Given the description of an element on the screen output the (x, y) to click on. 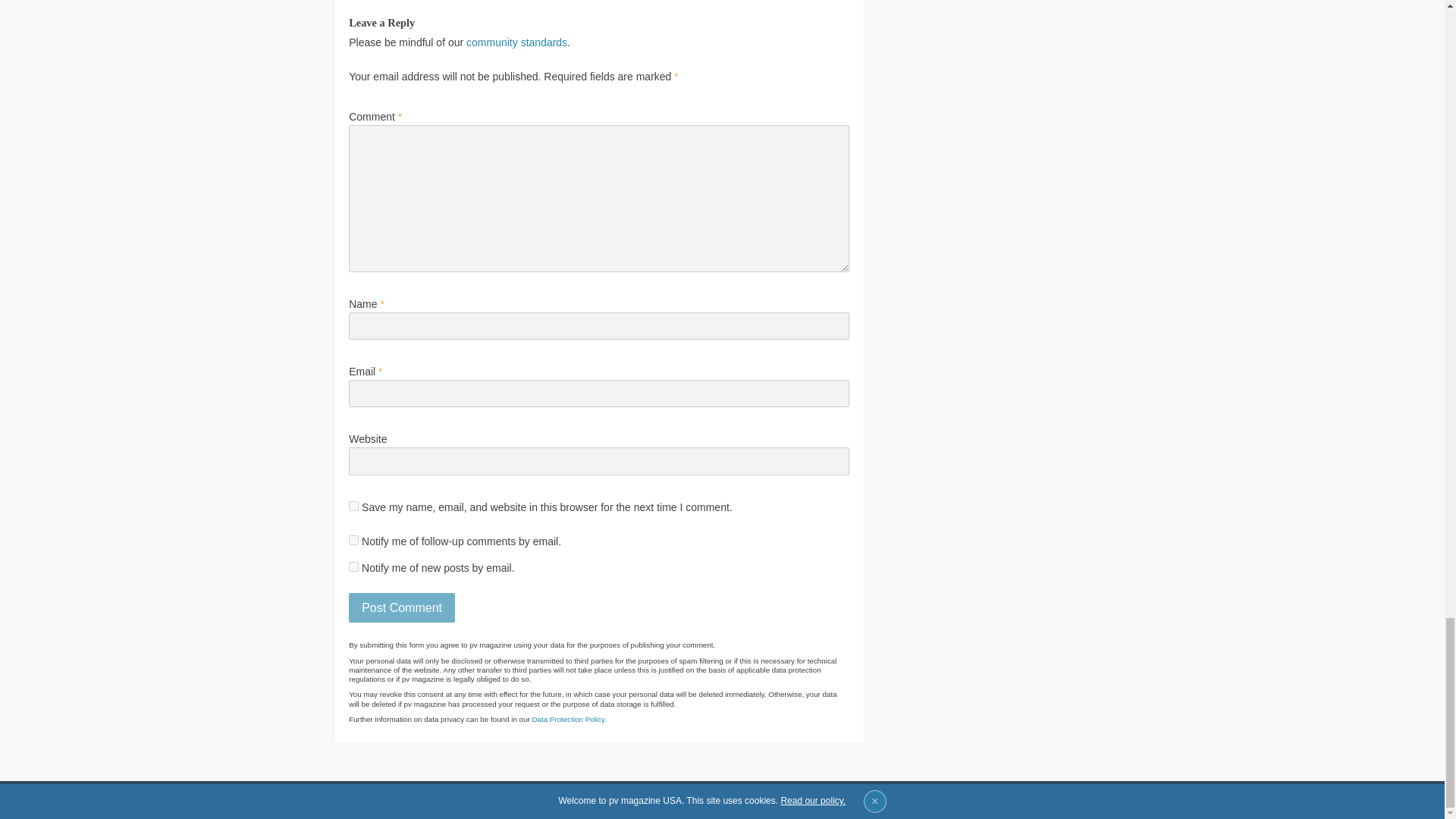
Post Comment (401, 607)
subscribe (353, 566)
subscribe (353, 540)
yes (353, 506)
